Given the description of an element on the screen output the (x, y) to click on. 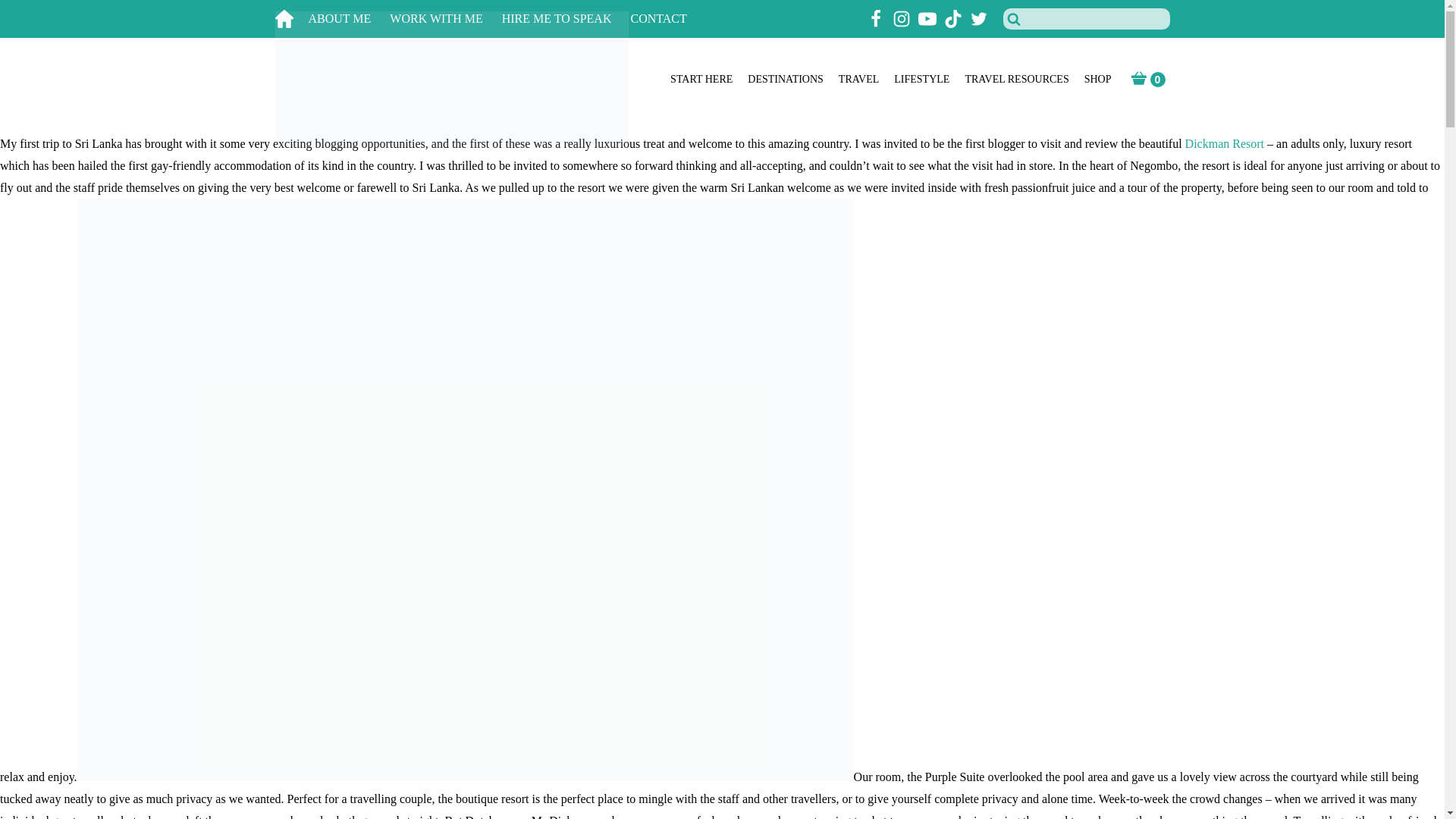
LIFESTYLE (921, 79)
ABOUT ME (348, 19)
CONTACT (667, 19)
TRAVEL (858, 79)
DESTINATIONS (786, 79)
SHOP (1098, 79)
Search (31, 13)
HIRE ME TO SPEAK (566, 19)
WORK WITH ME (445, 19)
START HERE (700, 79)
